Given the description of an element on the screen output the (x, y) to click on. 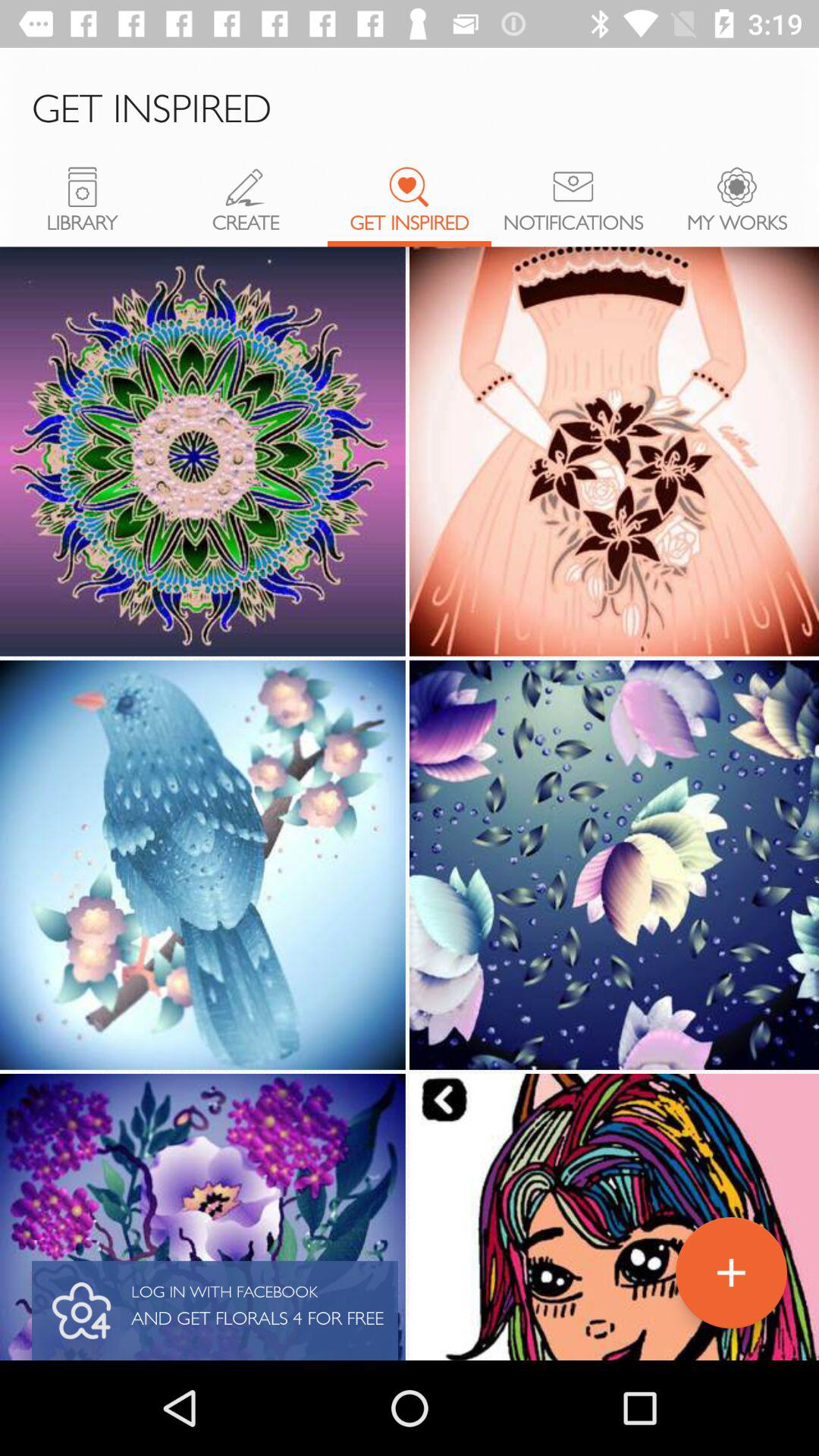
click the add icon (731, 1273)
click on notifications (573, 207)
select get inspired icon (409, 186)
